Given the description of an element on the screen output the (x, y) to click on. 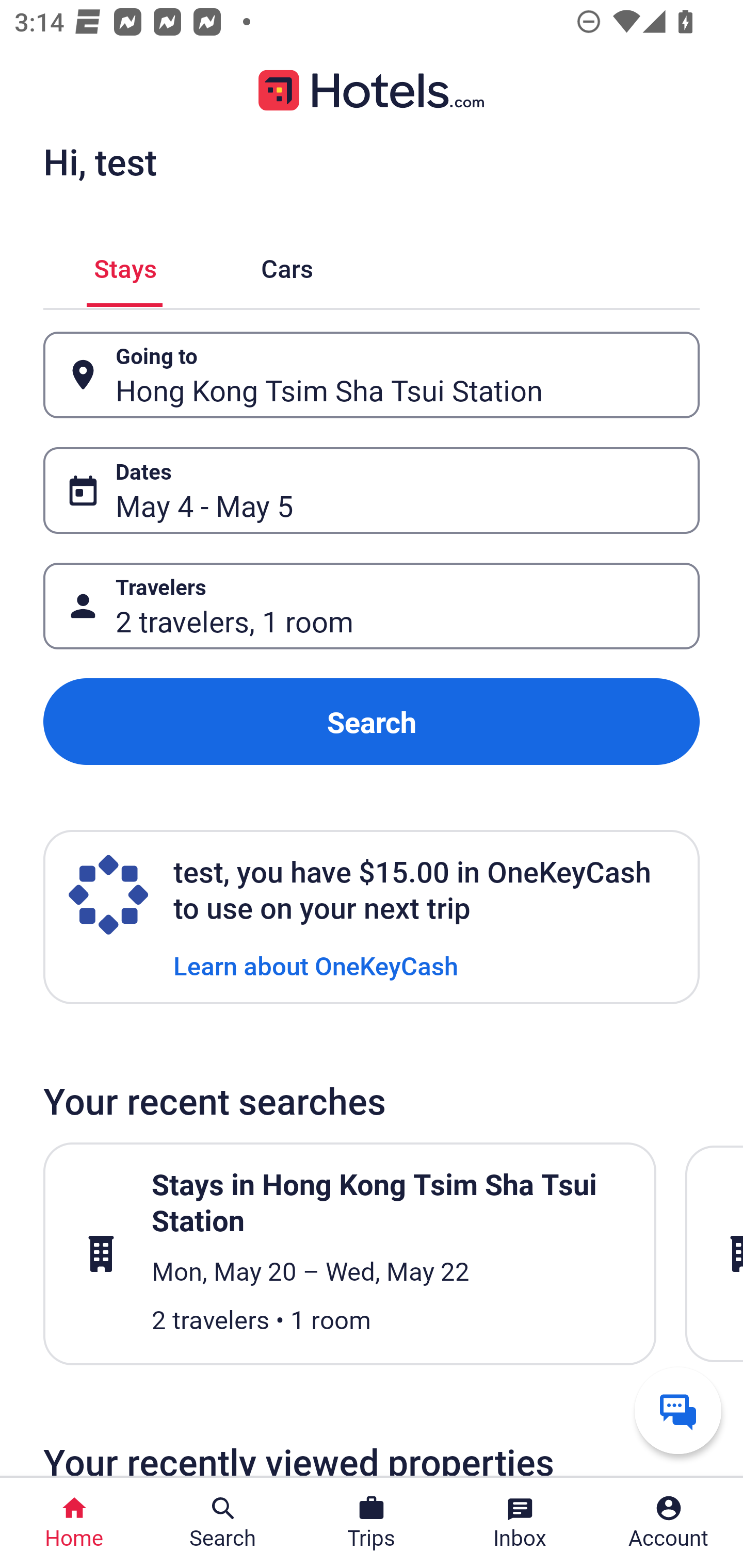
Hi, test (99, 161)
Cars (286, 265)
Going to Button Hong Kong Tsim Sha Tsui Station (371, 375)
Dates Button May 4 - May 5 (371, 489)
Travelers Button 2 travelers, 1 room (371, 605)
Search (371, 721)
Learn about OneKeyCash Learn about OneKeyCash Link (315, 964)
Get help from a virtual agent (677, 1410)
Search Search Button (222, 1522)
Trips Trips Button (371, 1522)
Inbox Inbox Button (519, 1522)
Account Profile. Button (668, 1522)
